Given the description of an element on the screen output the (x, y) to click on. 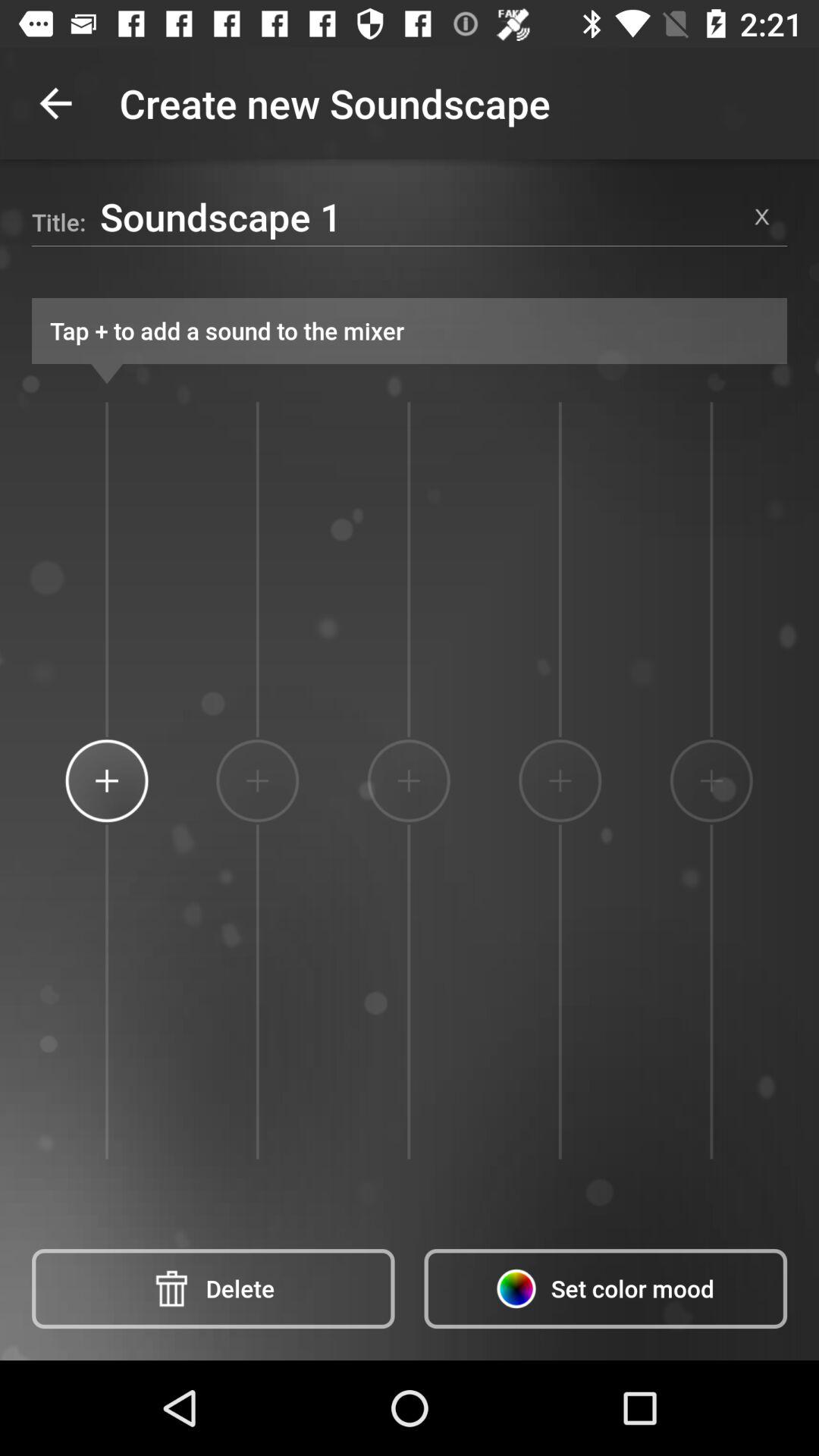
select icon above delete icon (106, 780)
